Given the description of an element on the screen output the (x, y) to click on. 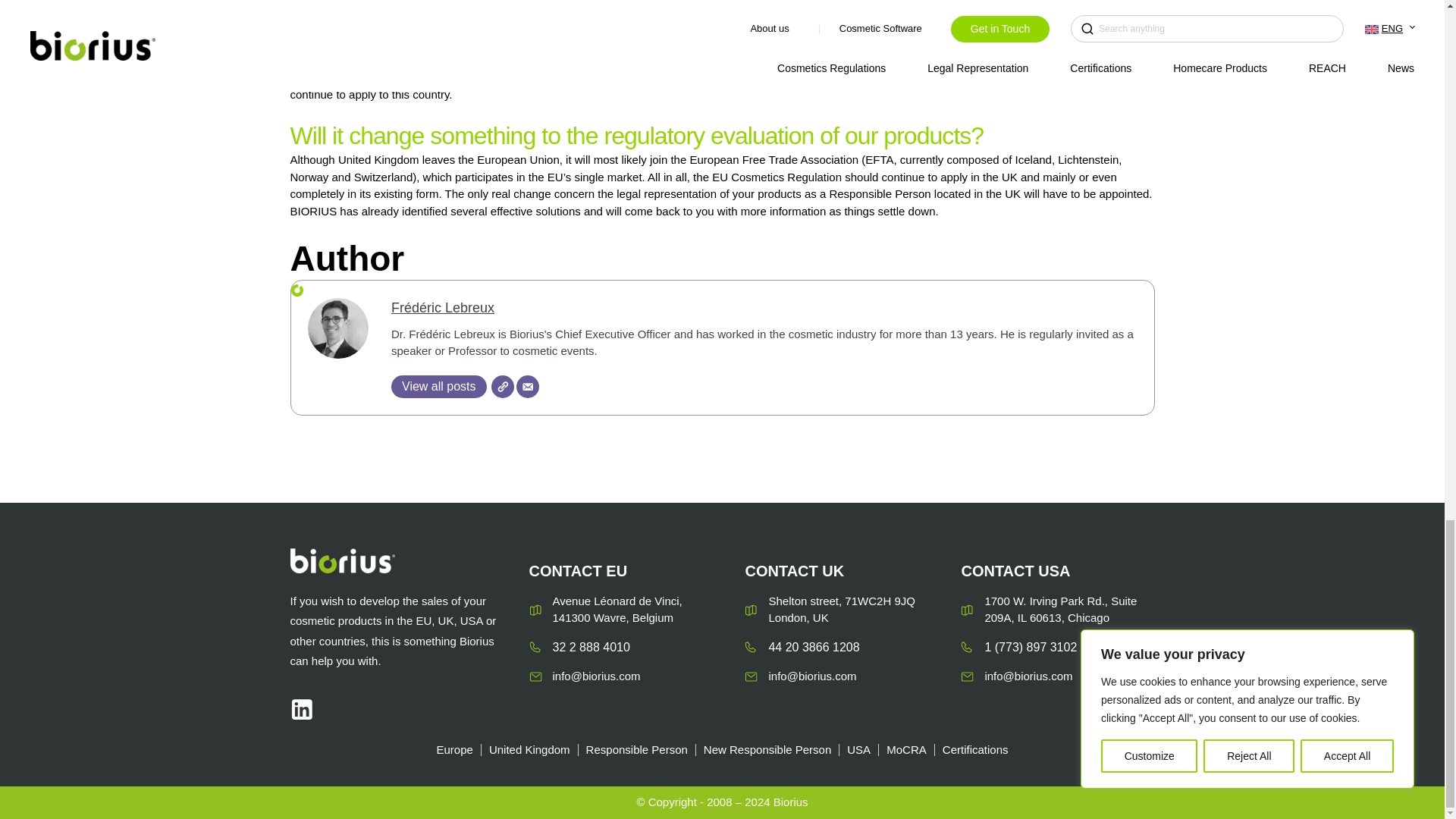
View all posts (438, 386)
